Given the description of an element on the screen output the (x, y) to click on. 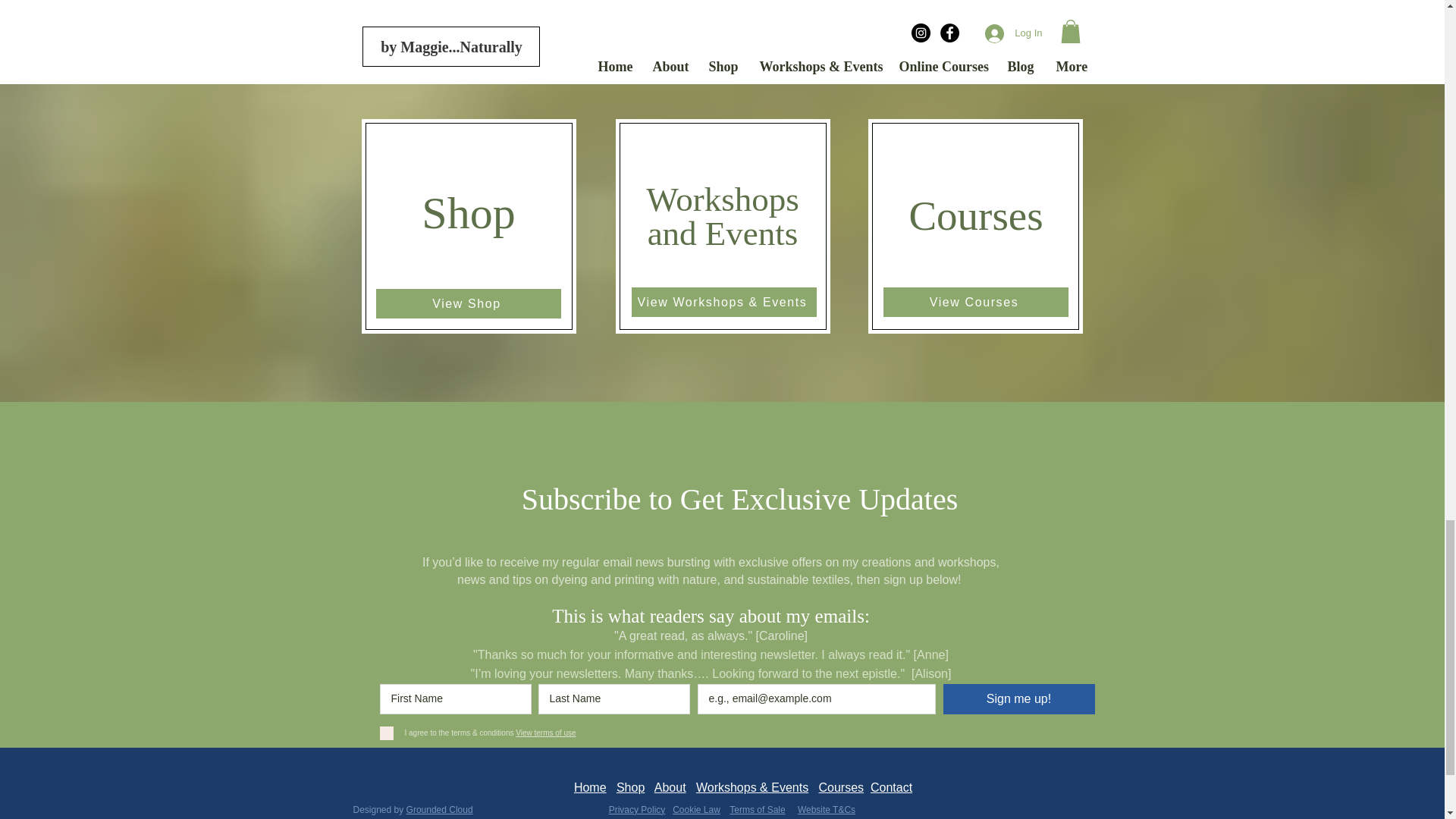
View terms of use (544, 732)
Sign me up! (1018, 698)
View Courses (974, 301)
Contact (891, 787)
Grounded Cloud (439, 809)
About (669, 787)
View Shop (467, 303)
Courses (840, 787)
Privacy Policy (636, 809)
Home (590, 787)
Cookie Law (696, 809)
Shop (630, 787)
